Given the description of an element on the screen output the (x, y) to click on. 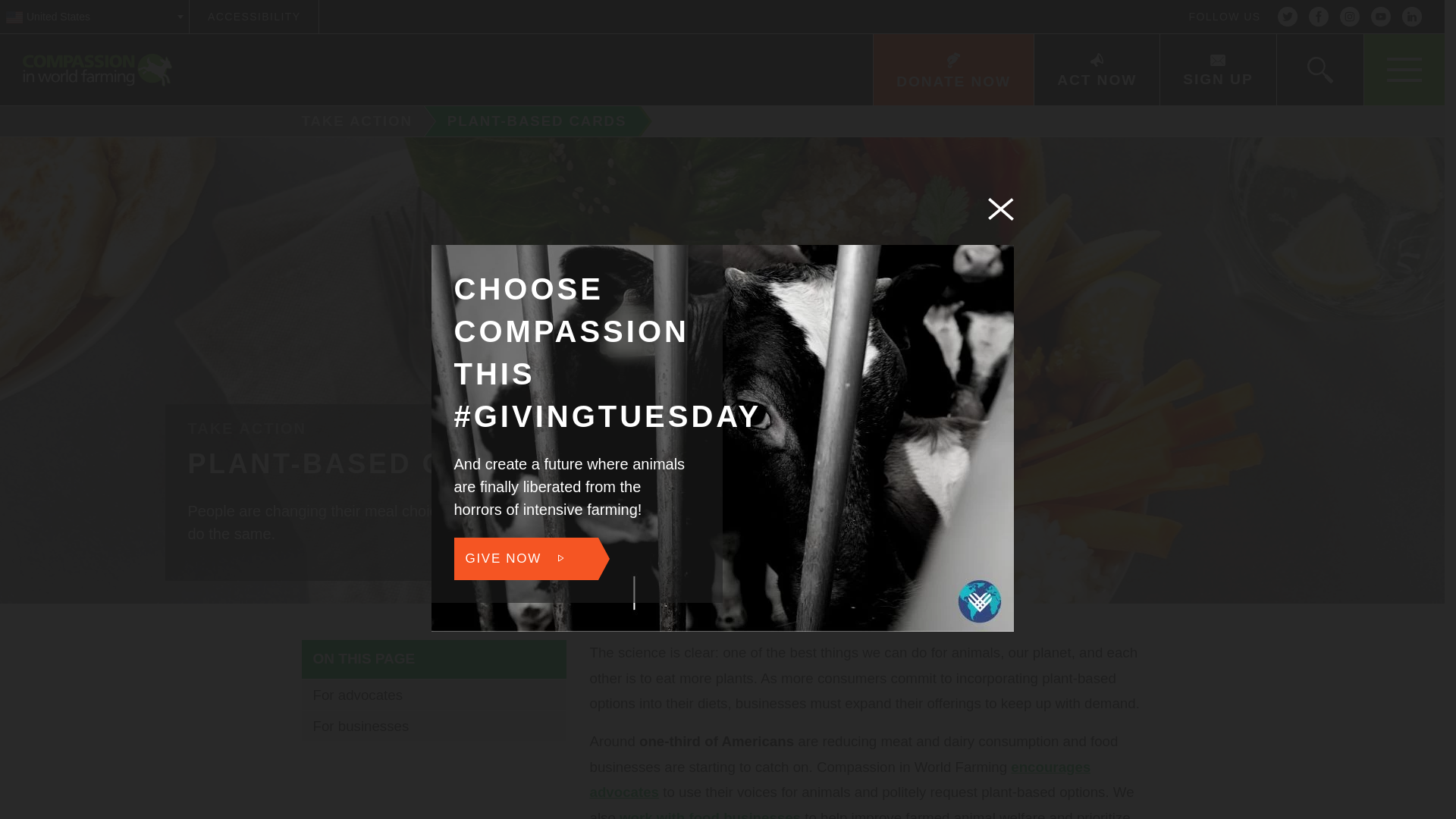
Instagram (1350, 16)
YouTube (1380, 16)
ACT NOW (1095, 69)
Facebook (1318, 16)
Twitter (1287, 16)
United States (94, 16)
work with food businesses (710, 814)
LinkedIn (1412, 16)
TAKE ACTION (351, 121)
DONATE NOW (952, 69)
encourages advocates (839, 779)
Skip to Content (778, 1)
ACCESSIBILITY (253, 16)
SIGN UP (1216, 69)
